Given the description of an element on the screen output the (x, y) to click on. 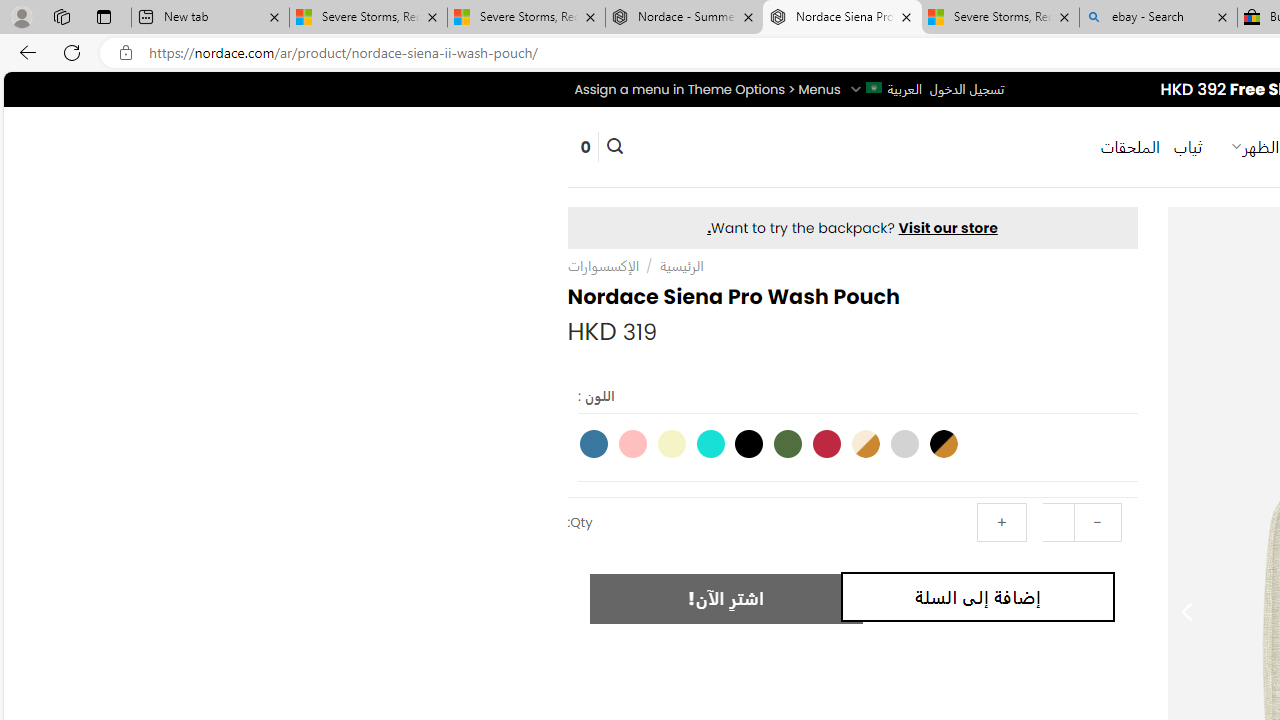
Nordace - Summer Adventures 2024 (683, 17)
